Given the description of an element on the screen output the (x, y) to click on. 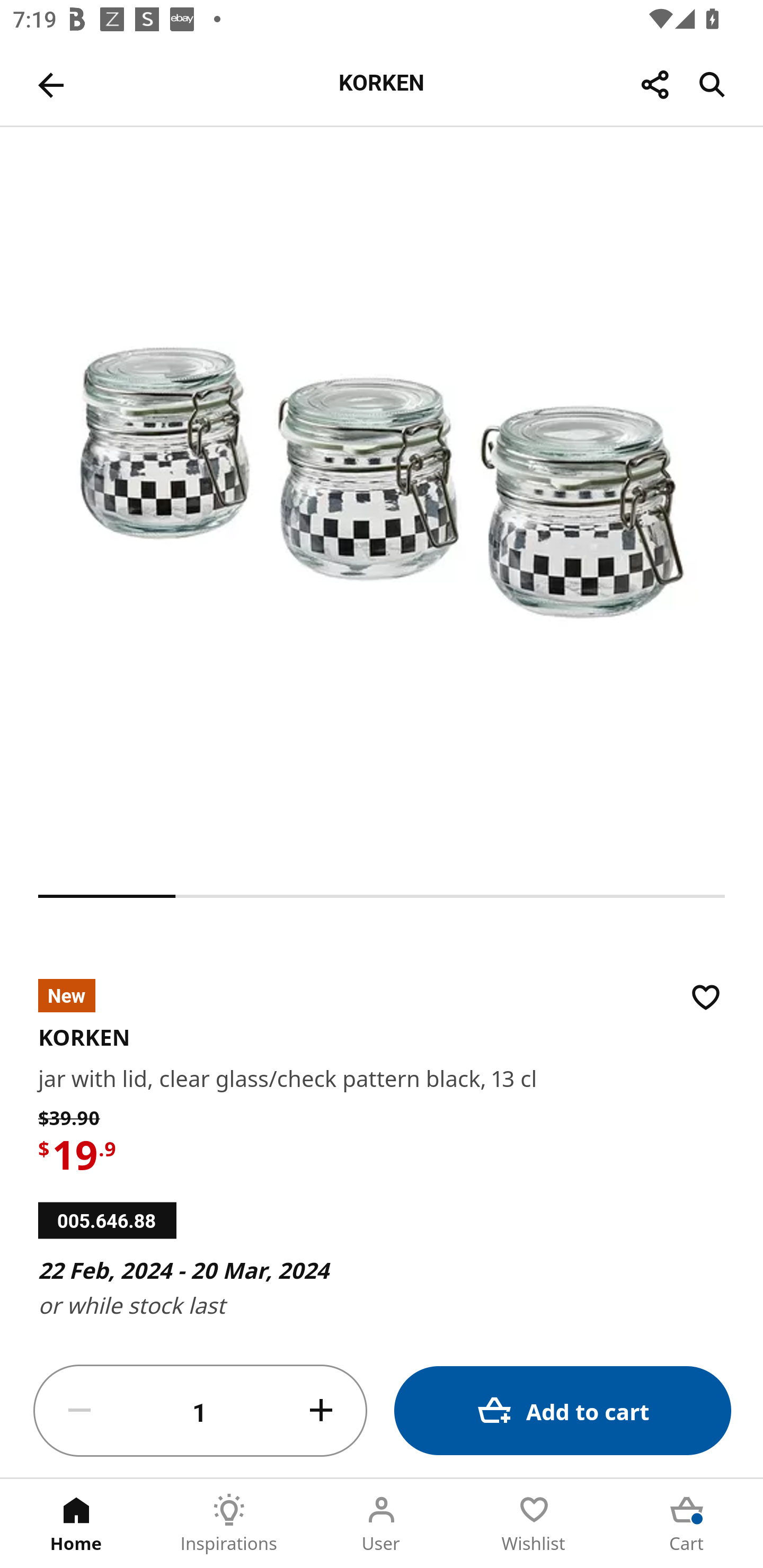
Add to cart (562, 1410)
1 (200, 1411)
Home
Tab 1 of 5 (76, 1522)
Inspirations
Tab 2 of 5 (228, 1522)
User
Tab 3 of 5 (381, 1522)
Wishlist
Tab 4 of 5 (533, 1522)
Cart
Tab 5 of 5 (686, 1522)
